Given the description of an element on the screen output the (x, y) to click on. 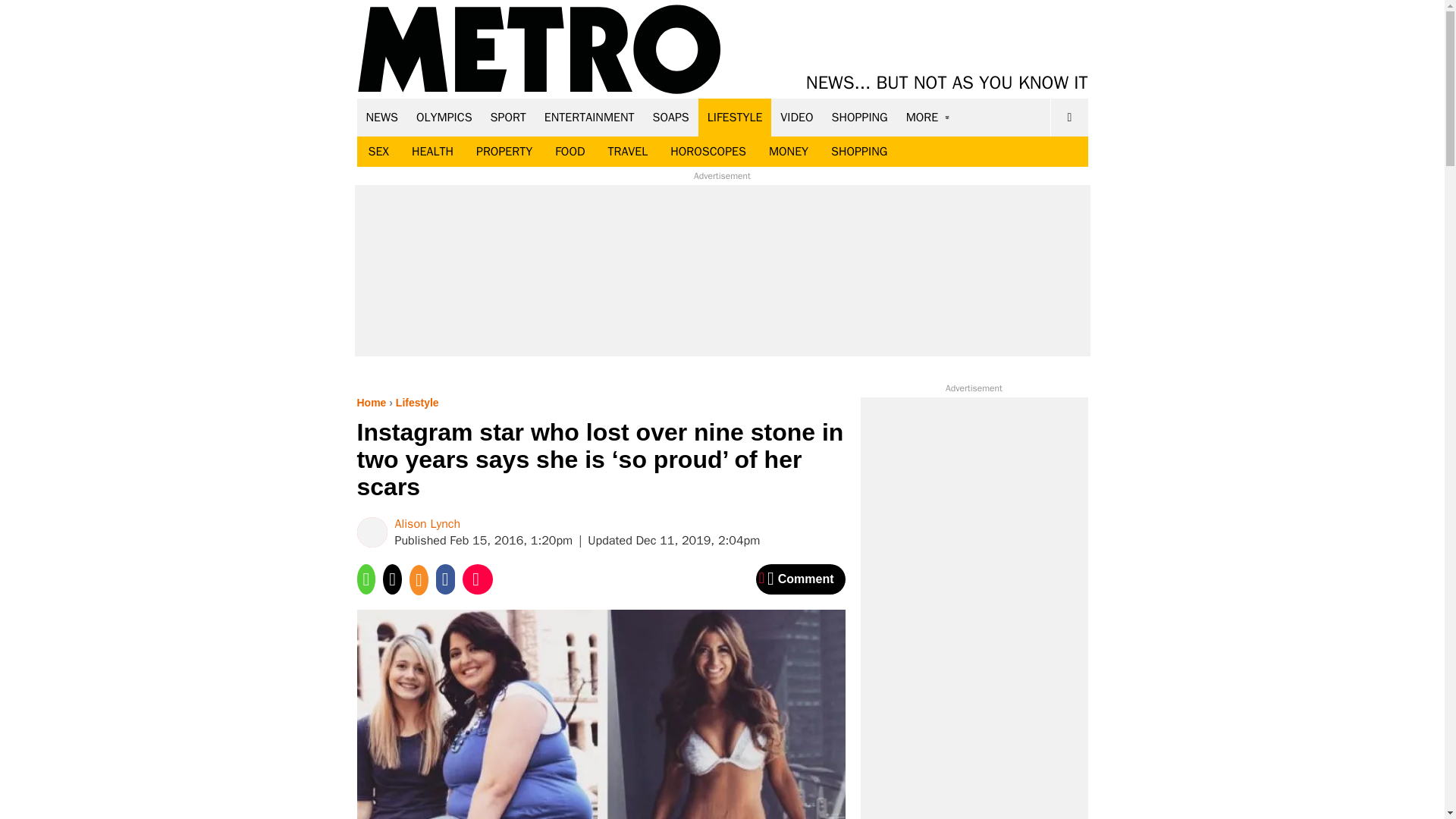
OLYMPICS (444, 117)
FOOD (569, 151)
SOAPS (670, 117)
ENTERTAINMENT (589, 117)
SPORT (508, 117)
HEALTH (432, 151)
PROPERTY (503, 151)
LIFESTYLE (734, 117)
SEX (377, 151)
Metro (539, 50)
